Given the description of an element on the screen output the (x, y) to click on. 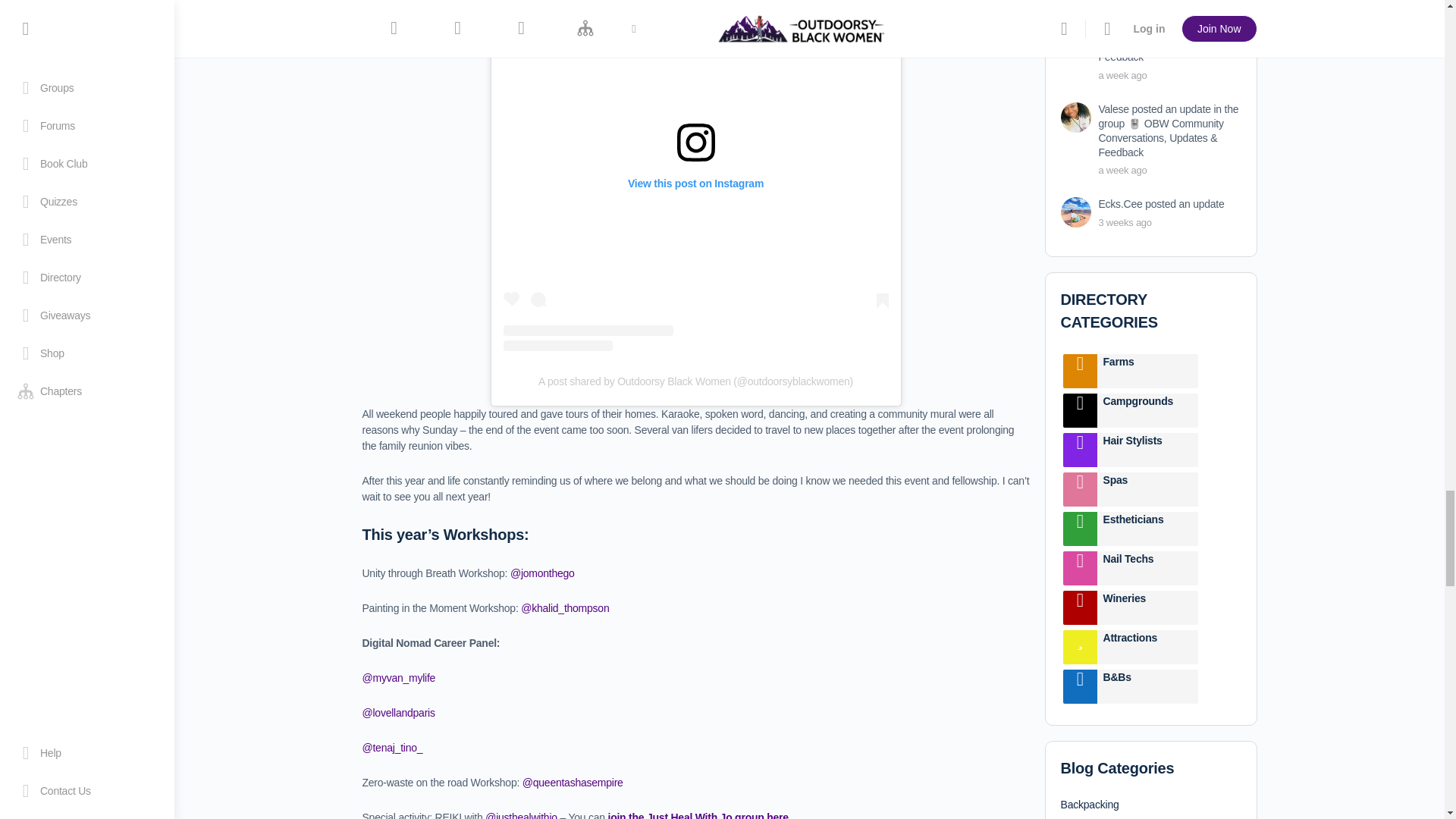
Hair Stylists (1147, 449)
Nail Techs (1079, 568)
Nail Techs (1147, 568)
Farms (1079, 370)
Estheticians (1079, 528)
Farms (1147, 370)
Estheticians (1147, 528)
Campgrounds (1147, 410)
Campgrounds (1079, 410)
Spas (1079, 489)
Hair Stylists (1079, 449)
Spas (1147, 489)
